Given the description of an element on the screen output the (x, y) to click on. 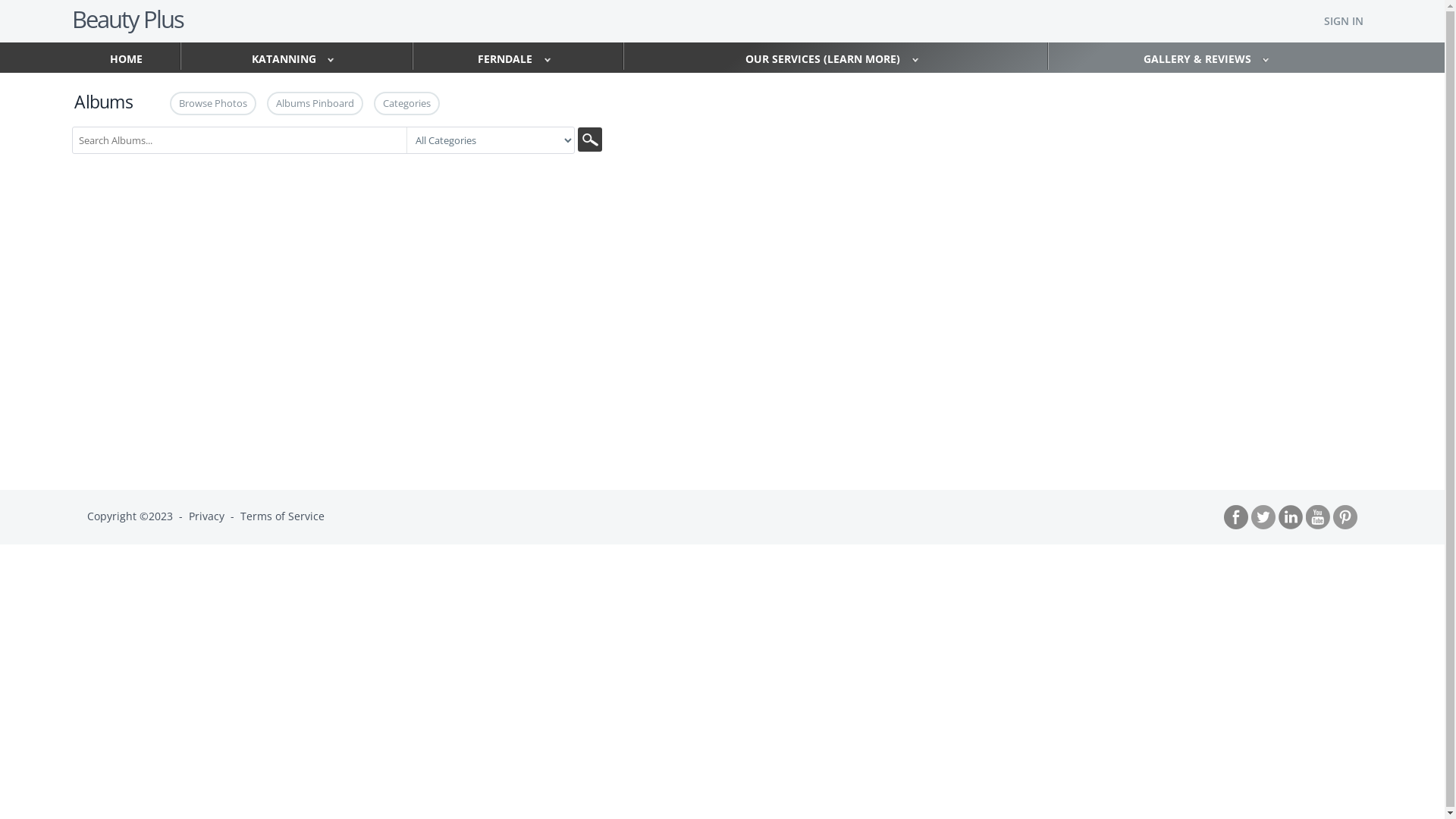
LinkedIn Element type: hover (1290, 517)
Youtube Element type: hover (1317, 517)
Privacy Element type: text (206, 515)
SEARCH Element type: text (589, 139)
Pinterest Element type: hover (1345, 517)
OUR SERVICES (LEARN MORE) Element type: text (835, 55)
Like us on Facebook Element type: hover (1235, 517)
KATANNING Element type: text (296, 55)
Browse Photos Element type: text (212, 103)
HOME Element type: text (126, 58)
Follow us on Twitter Element type: hover (1263, 517)
Categories Element type: text (406, 103)
SIGN IN Element type: text (1343, 21)
FERNDALE Element type: text (517, 55)
GALLERY & REVIEWS Element type: text (1210, 55)
Albums Pinboard Element type: text (314, 103)
Terms of Service Element type: text (282, 515)
